Given the description of an element on the screen output the (x, y) to click on. 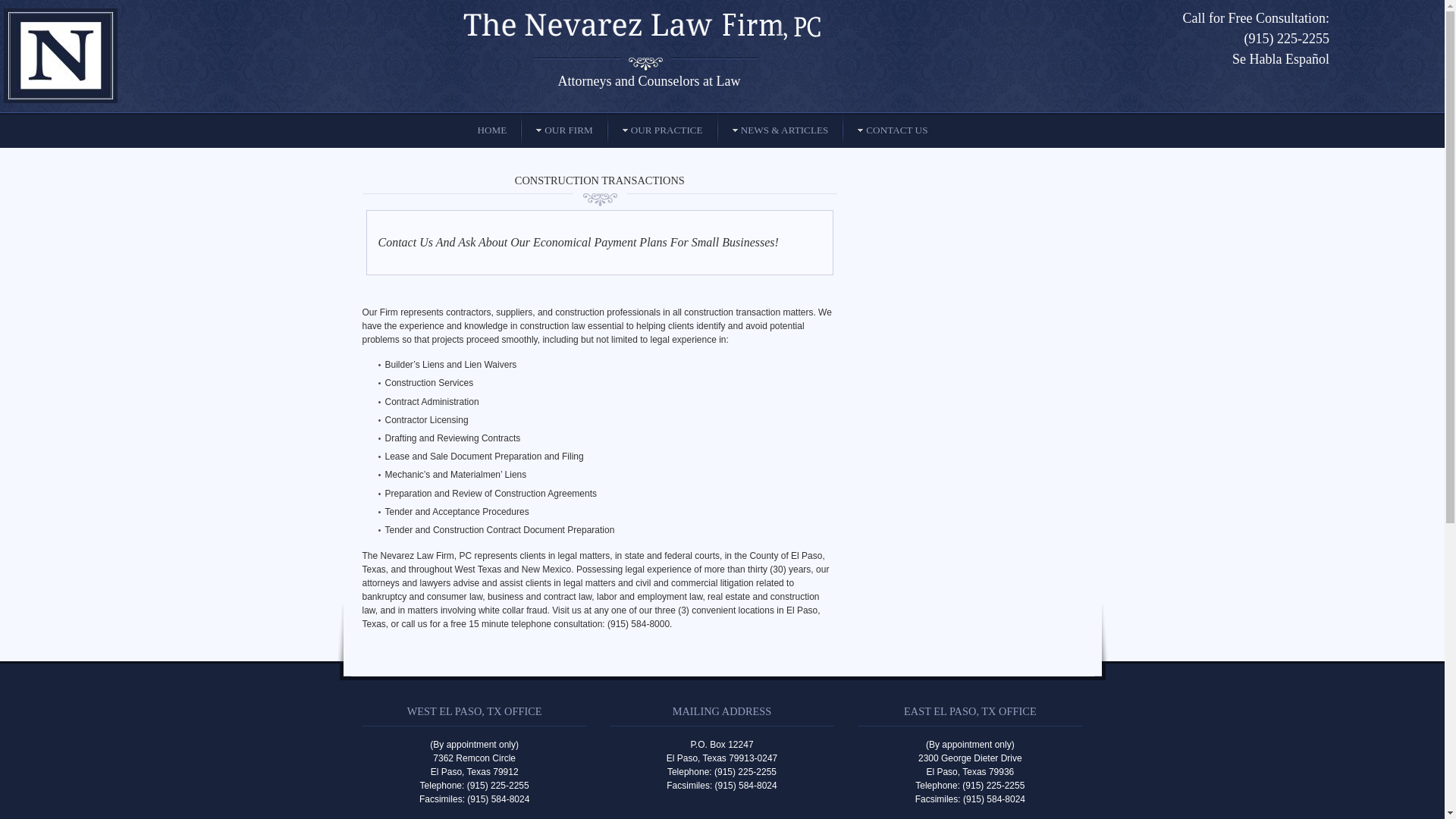
OUR FIRM (564, 130)
HOME (492, 130)
OUR PRACTICE (662, 130)
